Given the description of an element on the screen output the (x, y) to click on. 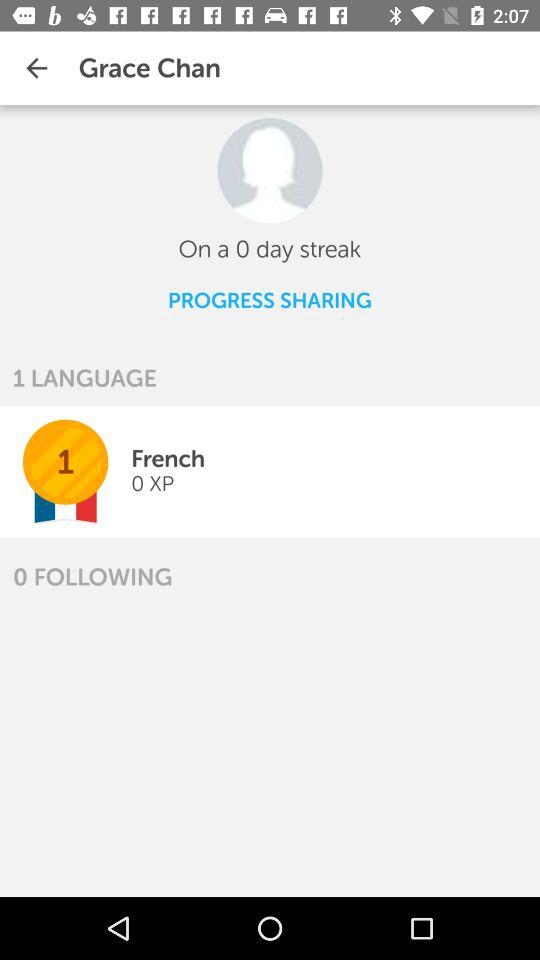
open the icon above the 0 following icon (152, 483)
